Given the description of an element on the screen output the (x, y) to click on. 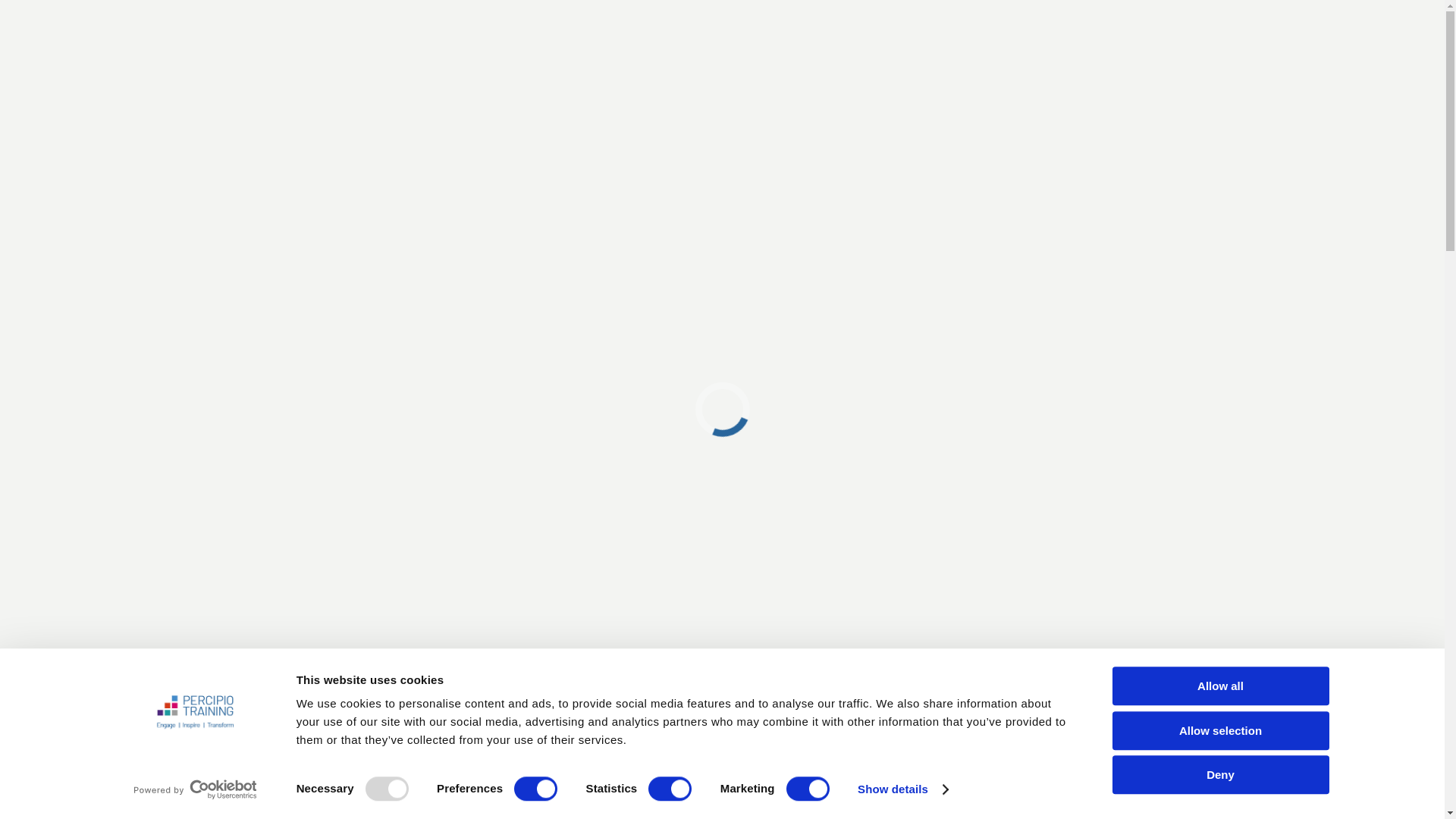
Allow selection (1219, 730)
Deny (1219, 774)
Food Allergy (1171, 230)
Allow all (1219, 685)
Linkedin page opens in new window (1182, 13)
Blog (352, 13)
Show details (902, 789)
Facebook page opens in new window (1138, 13)
Home (1117, 230)
About (313, 13)
Home (267, 13)
X page opens in new window (1160, 13)
